Given the description of an element on the screen output the (x, y) to click on. 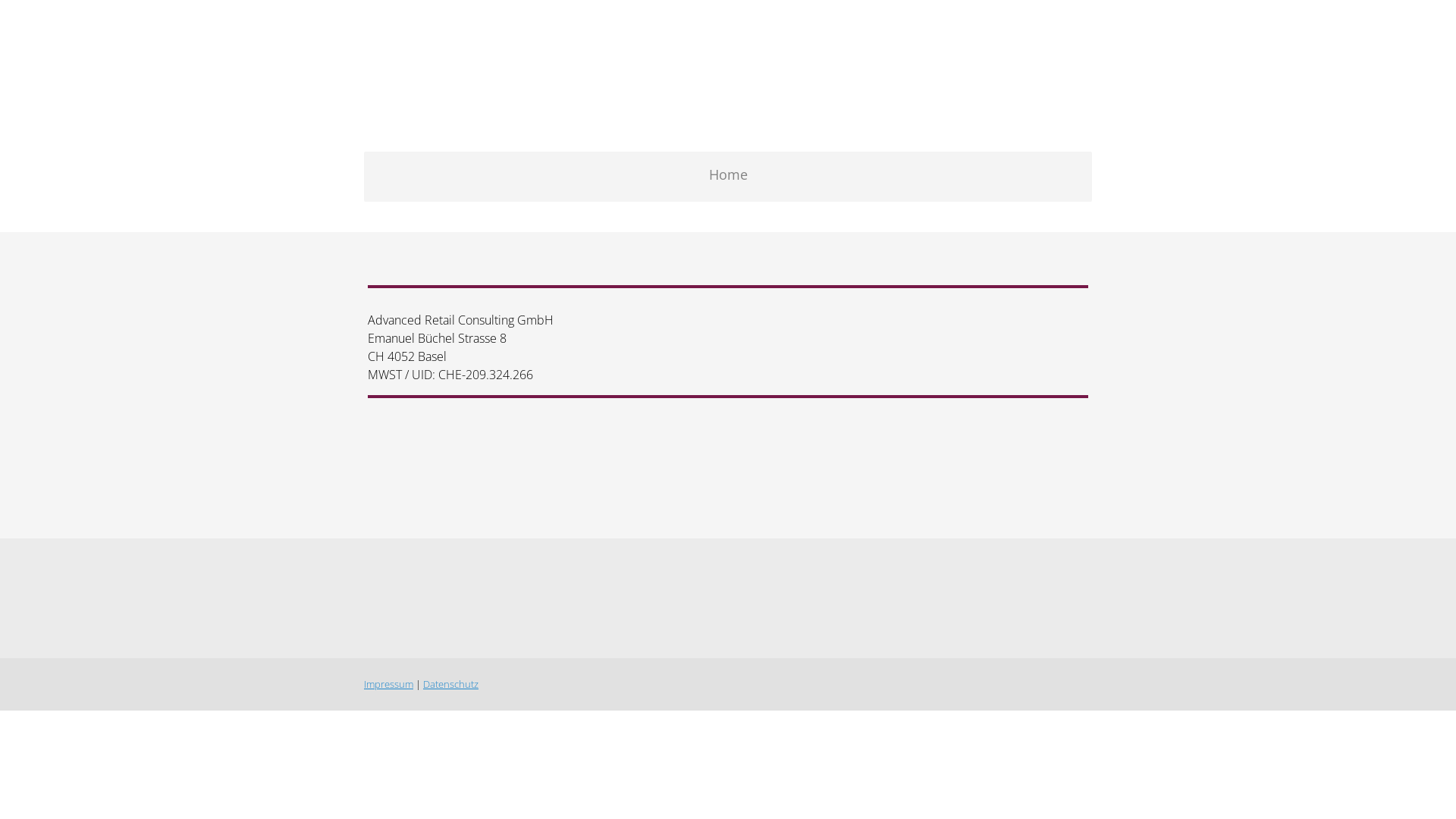
Datenschutz Element type: text (450, 683)
Impressum Element type: text (388, 683)
Home Element type: text (727, 176)
